Given the description of an element on the screen output the (x, y) to click on. 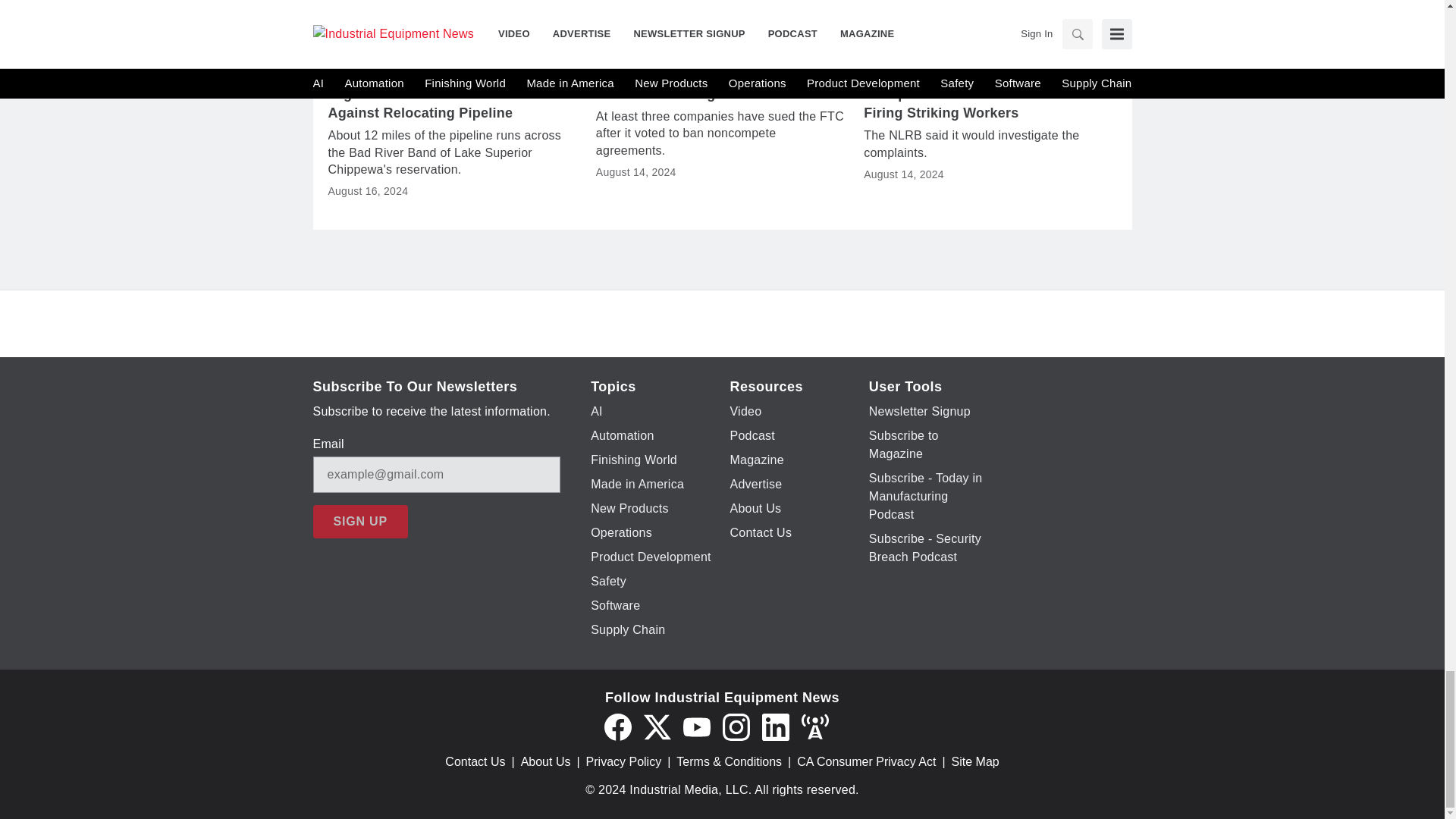
Facebook icon (617, 727)
LinkedIn icon (775, 727)
Instagram icon (735, 727)
YouTube icon (696, 727)
Twitter X icon (656, 727)
